Given the description of an element on the screen output the (x, y) to click on. 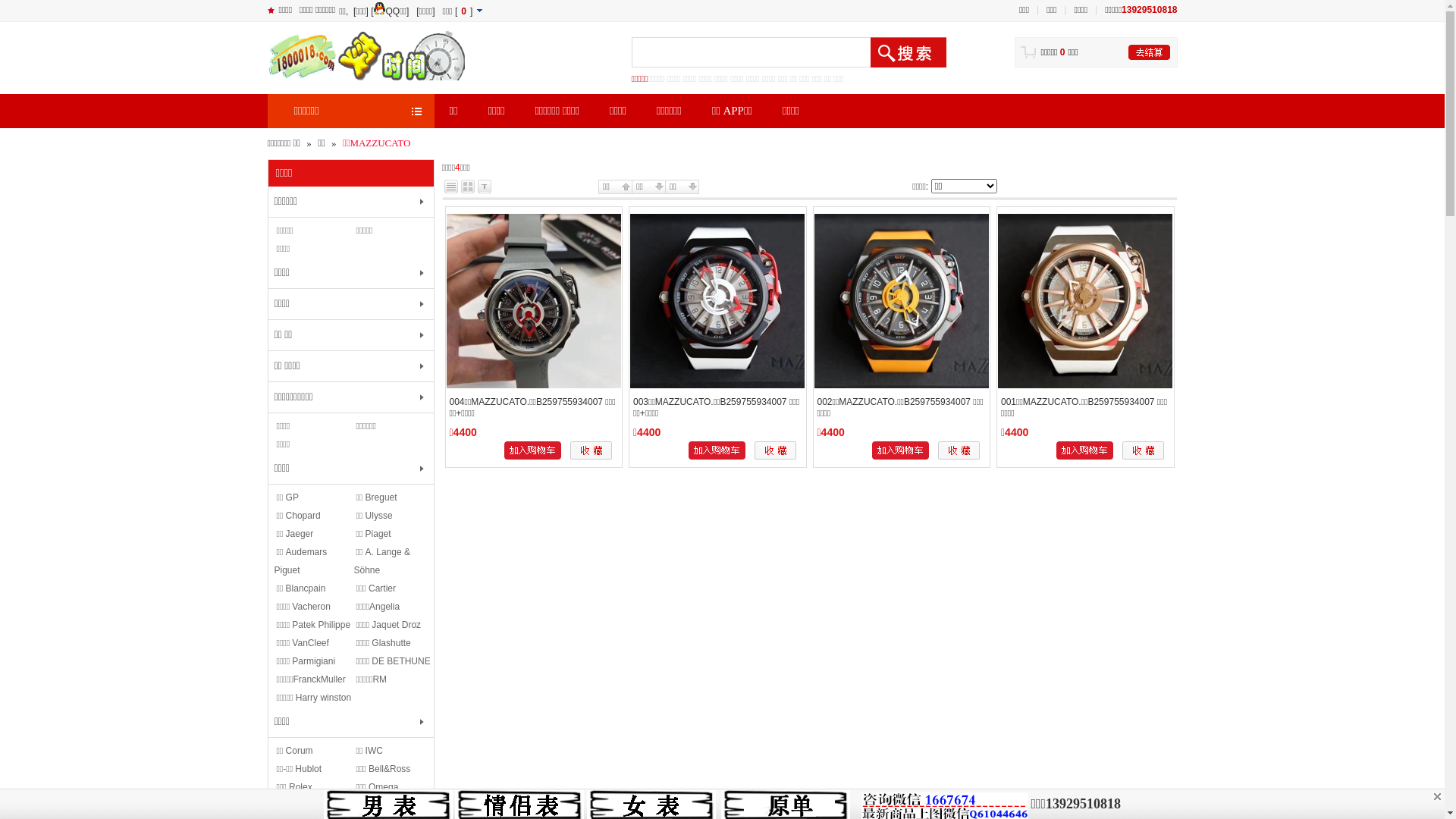
gb Element type: text (1436, 795)
